Given the description of an element on the screen output the (x, y) to click on. 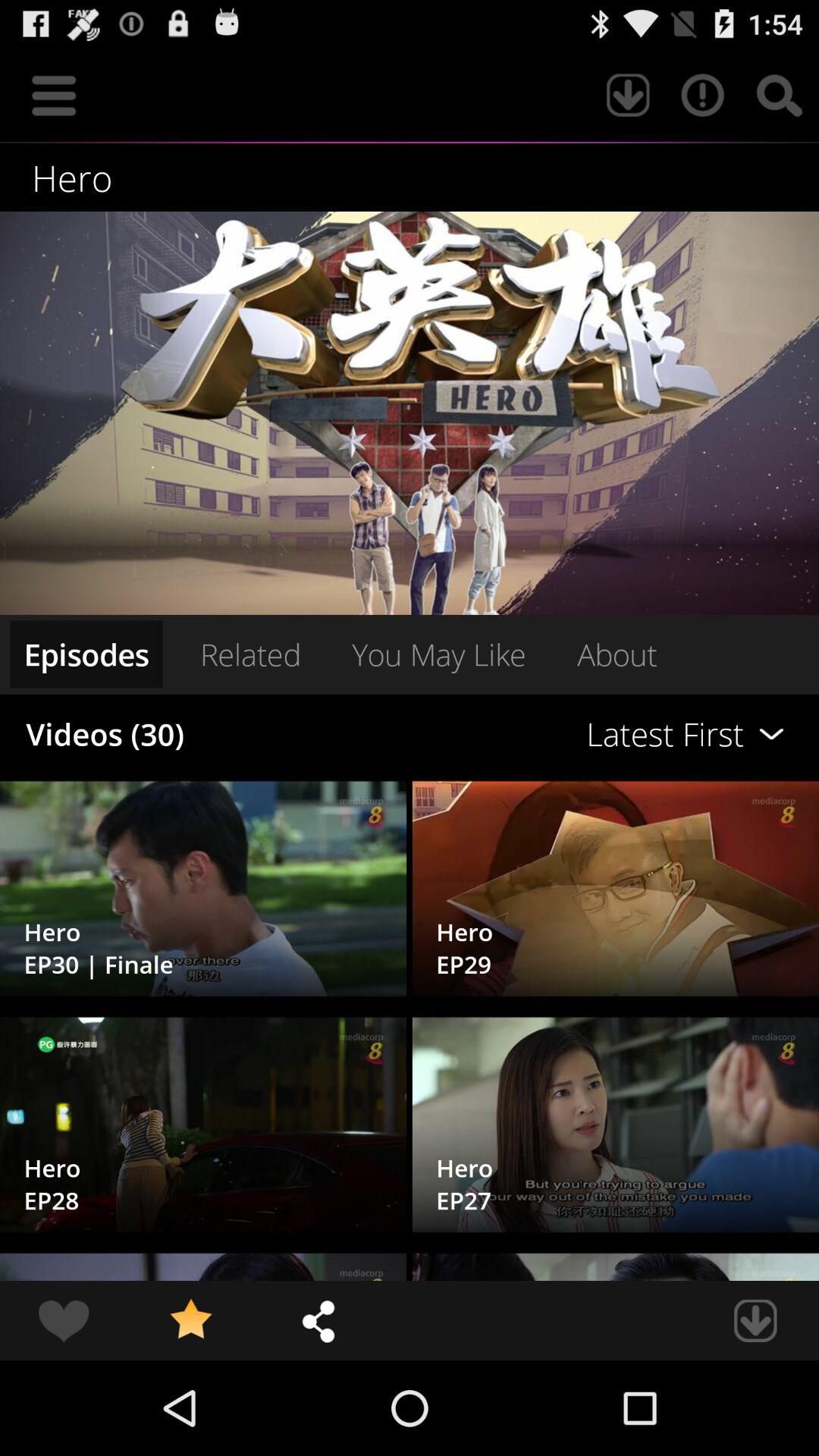
launch the latest first (560, 734)
